Given the description of an element on the screen output the (x, y) to click on. 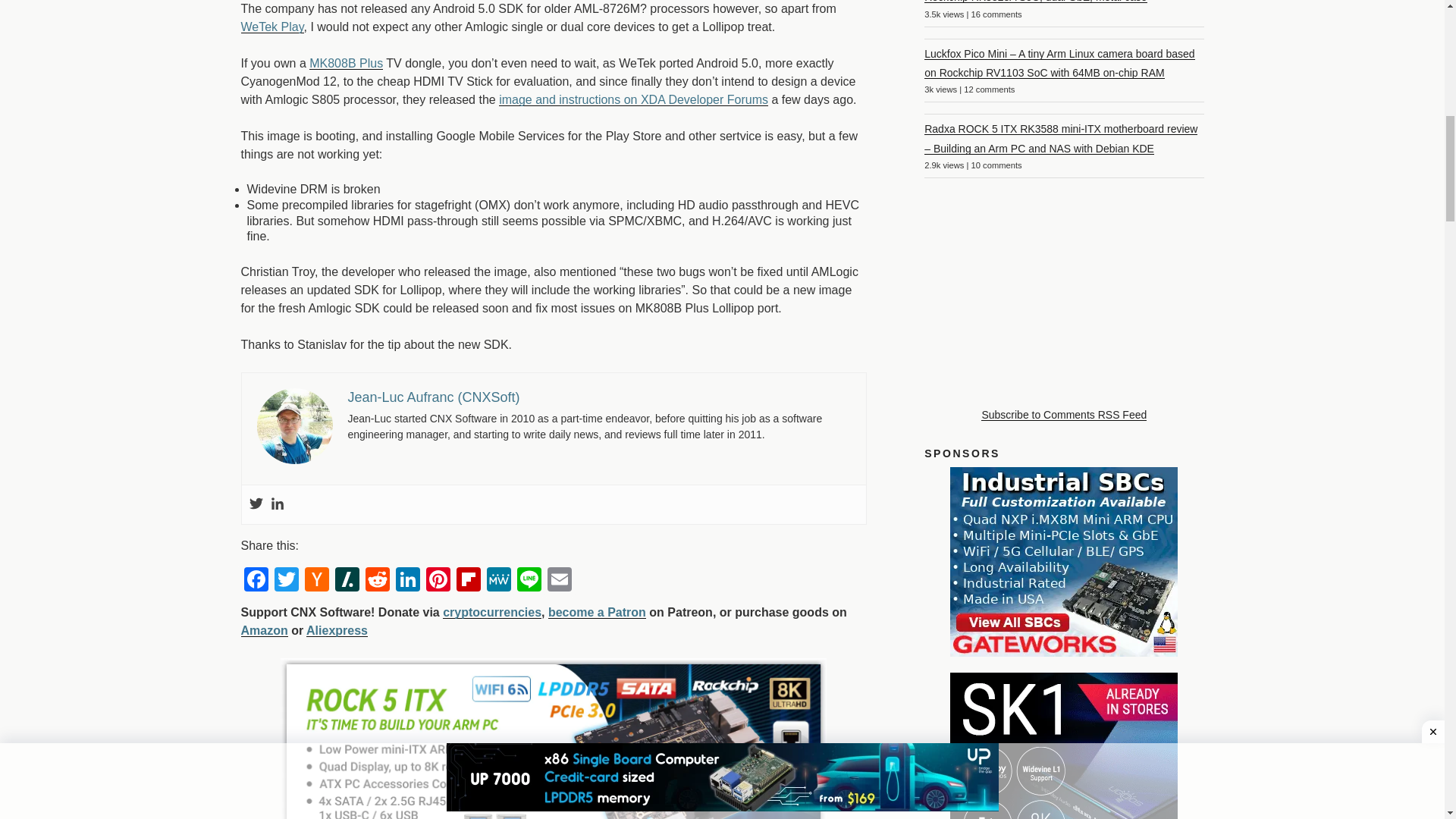
Slashdot (346, 579)
Twitter (285, 579)
Hacker News (316, 579)
Reddit (377, 579)
Pinterest (437, 579)
Facebook (255, 579)
LinkedIn (408, 579)
